Given the description of an element on the screen output the (x, y) to click on. 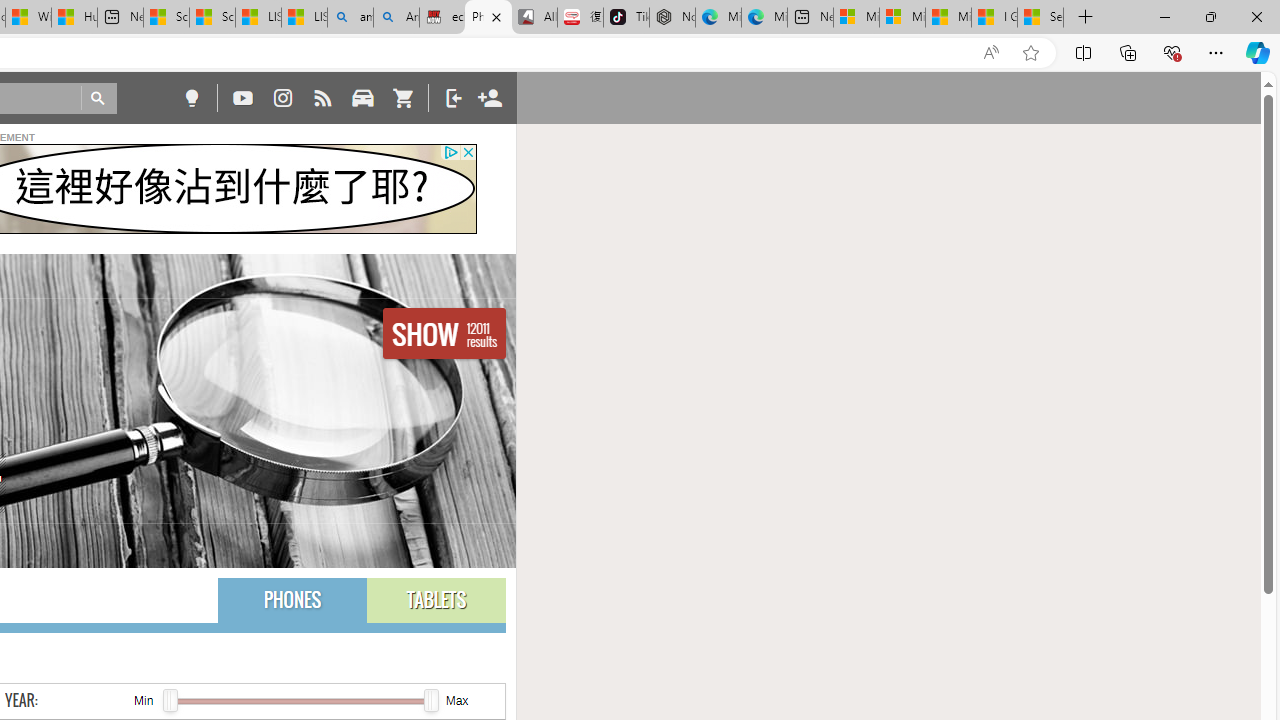
Class: privacy_out (450, 151)
PHONES (292, 600)
TikTok (626, 17)
Nordace - Best Sellers (672, 17)
All Cubot phones (534, 17)
Huge shark washes ashore at New York City beach | Watch (74, 17)
